Given the description of an element on the screen output the (x, y) to click on. 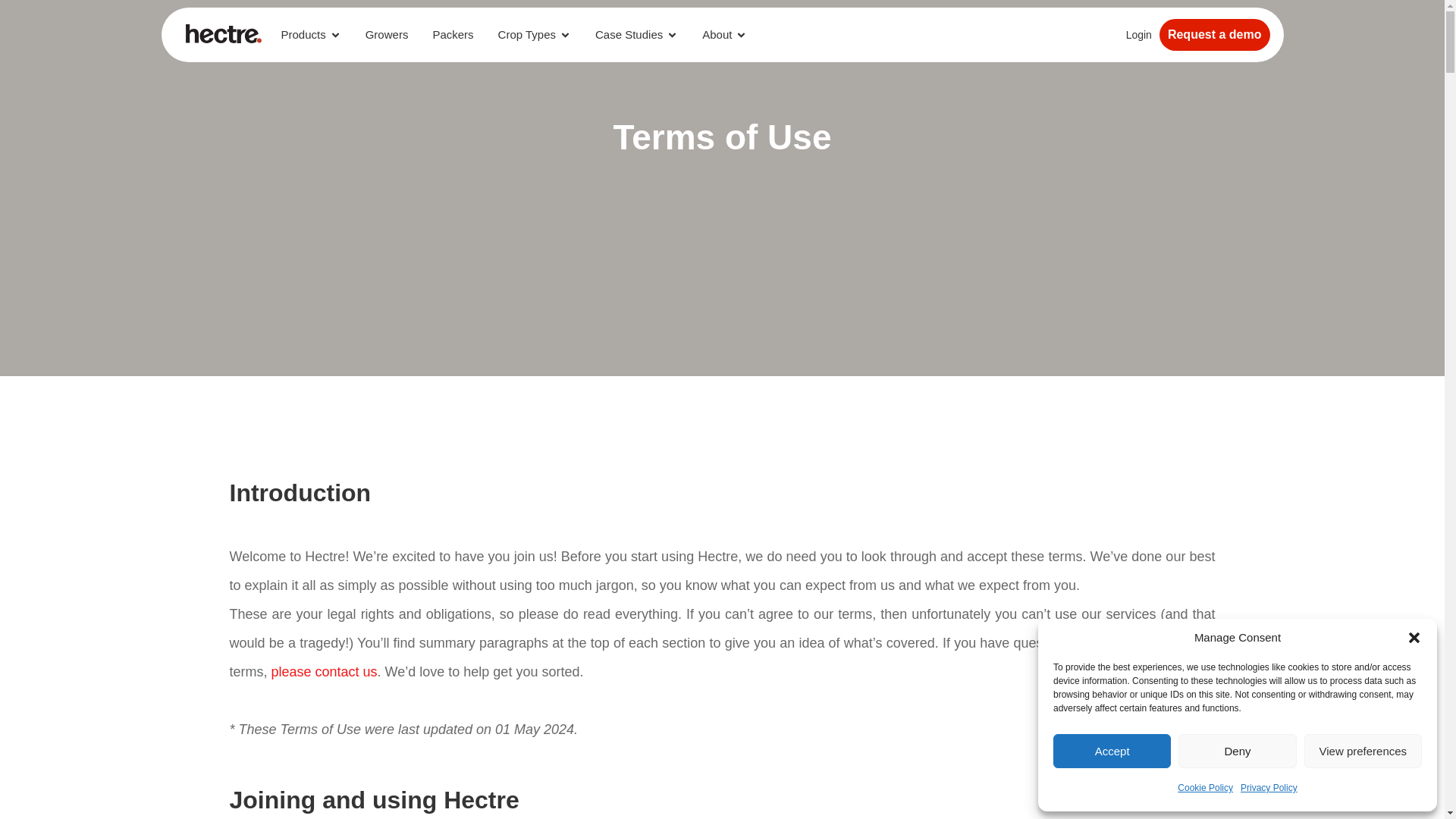
Accept (1111, 750)
Deny (1236, 750)
Packers (452, 35)
Privacy Policy (1268, 787)
Case Studies (628, 35)
View preferences (1363, 750)
Cookie Policy (1205, 787)
Growers (387, 35)
